Given the description of an element on the screen output the (x, y) to click on. 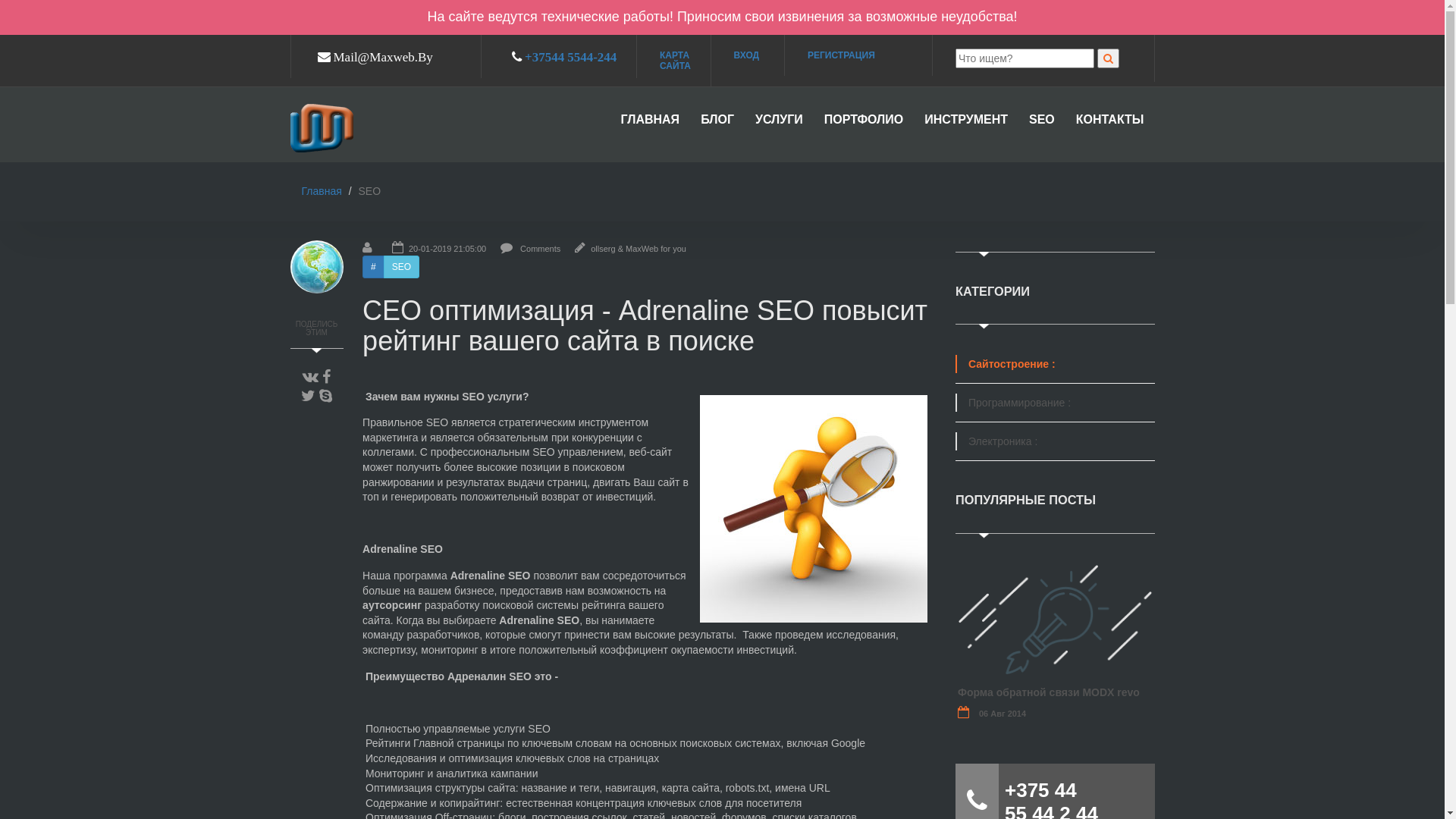
+37544 5544-244 Element type: text (570, 56)
Mail@Maxweb.By Element type: text (377, 55)
SEO Element type: text (401, 266)
SEO Element type: text (1041, 125)
